Given the description of an element on the screen output the (x, y) to click on. 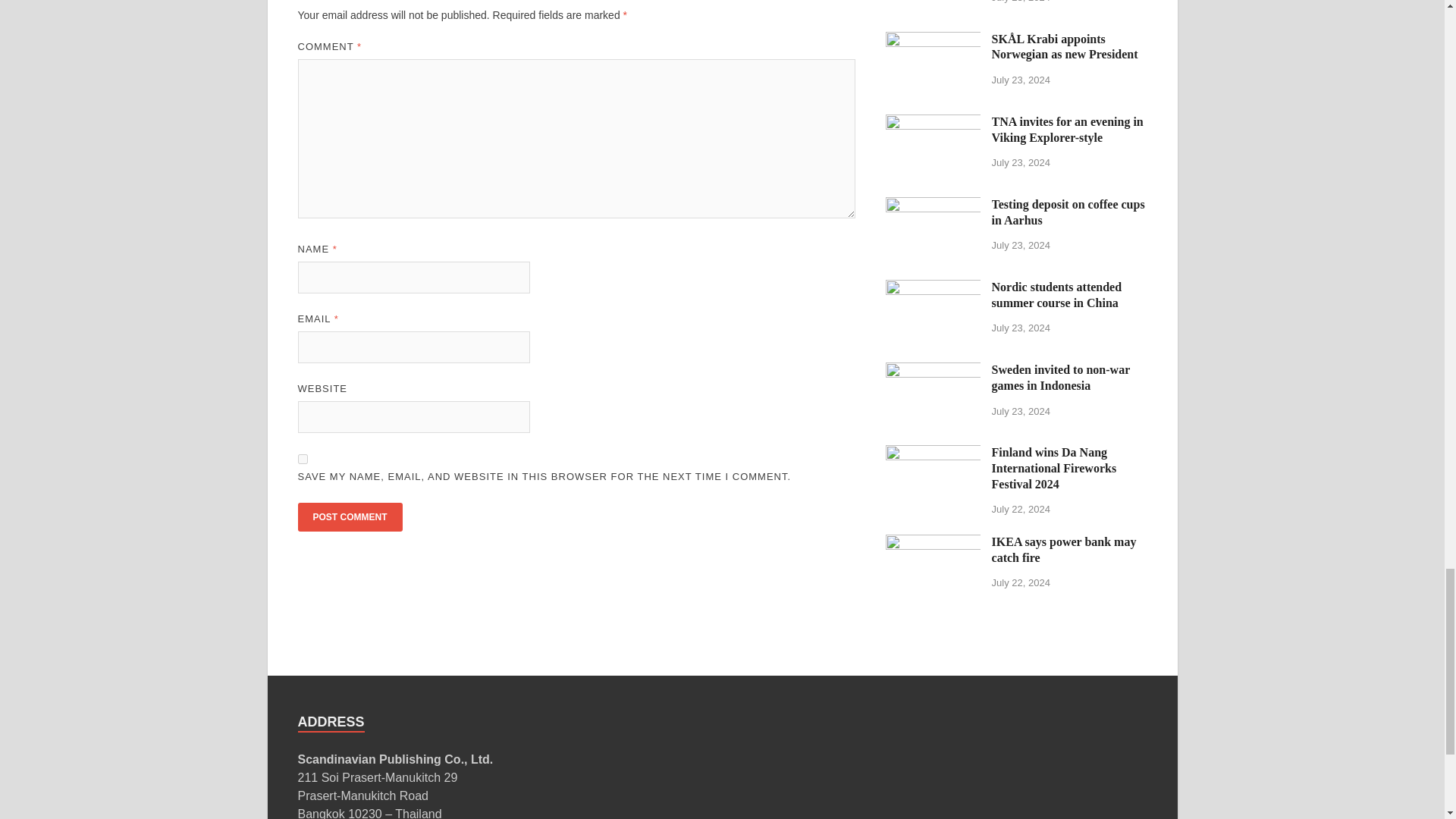
yes (302, 459)
Testing deposit on coffee cups in Aarhus (932, 205)
Post Comment (349, 516)
Nordic students attended summer course in China (932, 287)
TNA invites for an evening in Viking Explorer-style (932, 123)
